Given the description of an element on the screen output the (x, y) to click on. 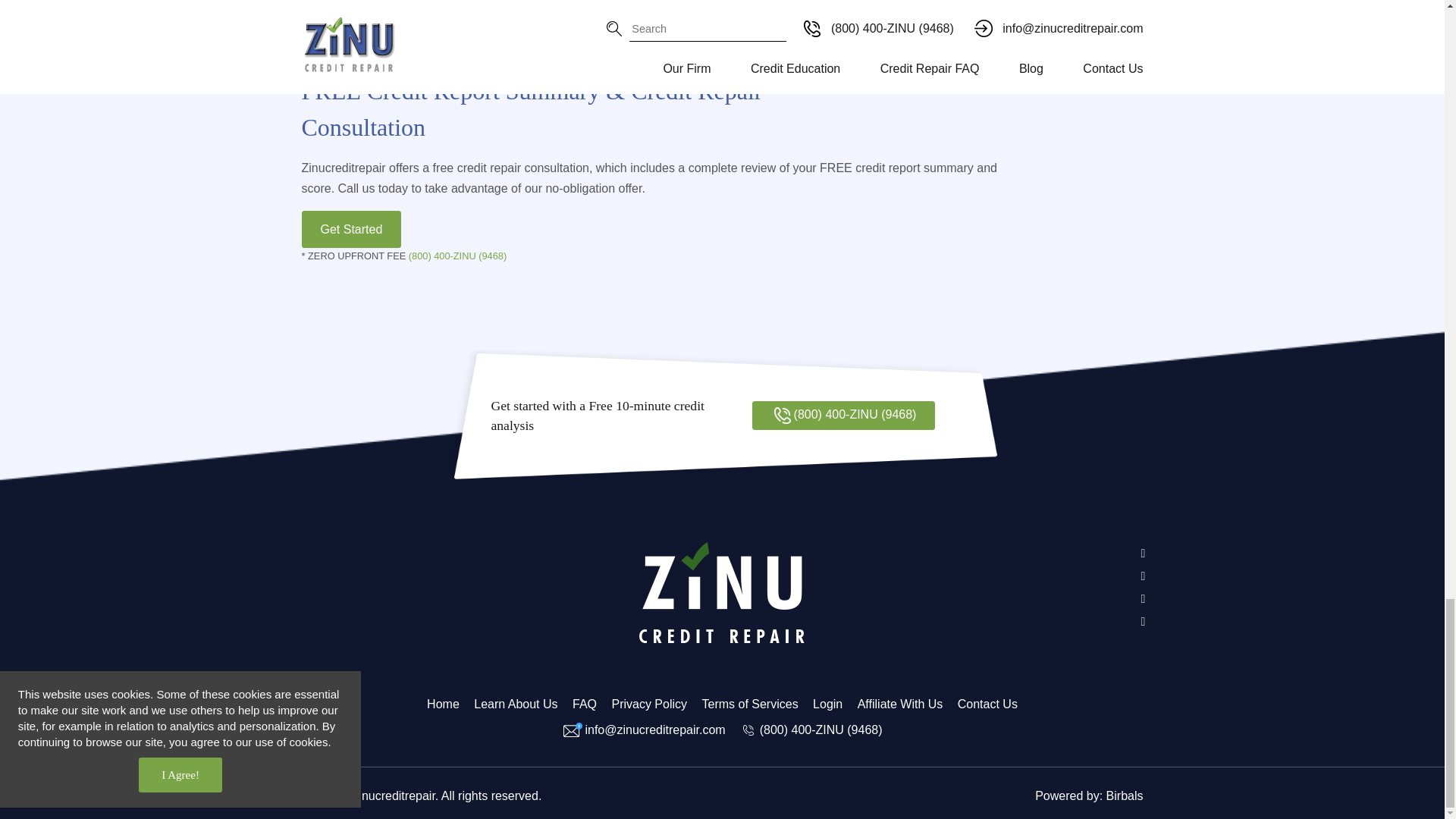
Privacy Policy (649, 704)
Learn About Us (515, 704)
Home (443, 704)
Login (827, 704)
Affiliate With Us (900, 704)
Get Started (351, 228)
Terms of Services (749, 704)
FAQ (584, 704)
